Given the description of an element on the screen output the (x, y) to click on. 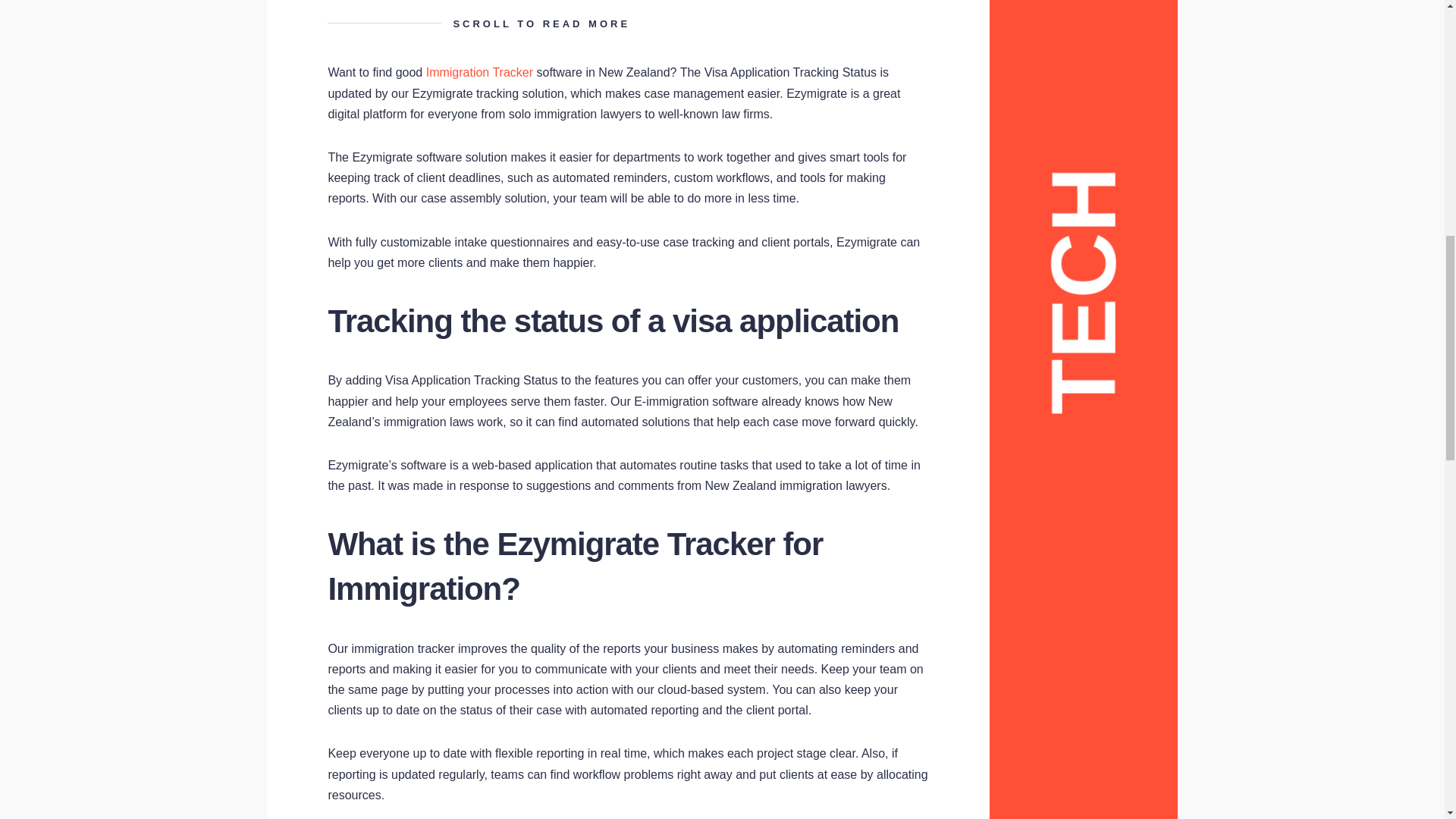
TECH (1161, 81)
Immigration Tracker (479, 72)
SCROLL TO READ MORE (627, 23)
